Given the description of an element on the screen output the (x, y) to click on. 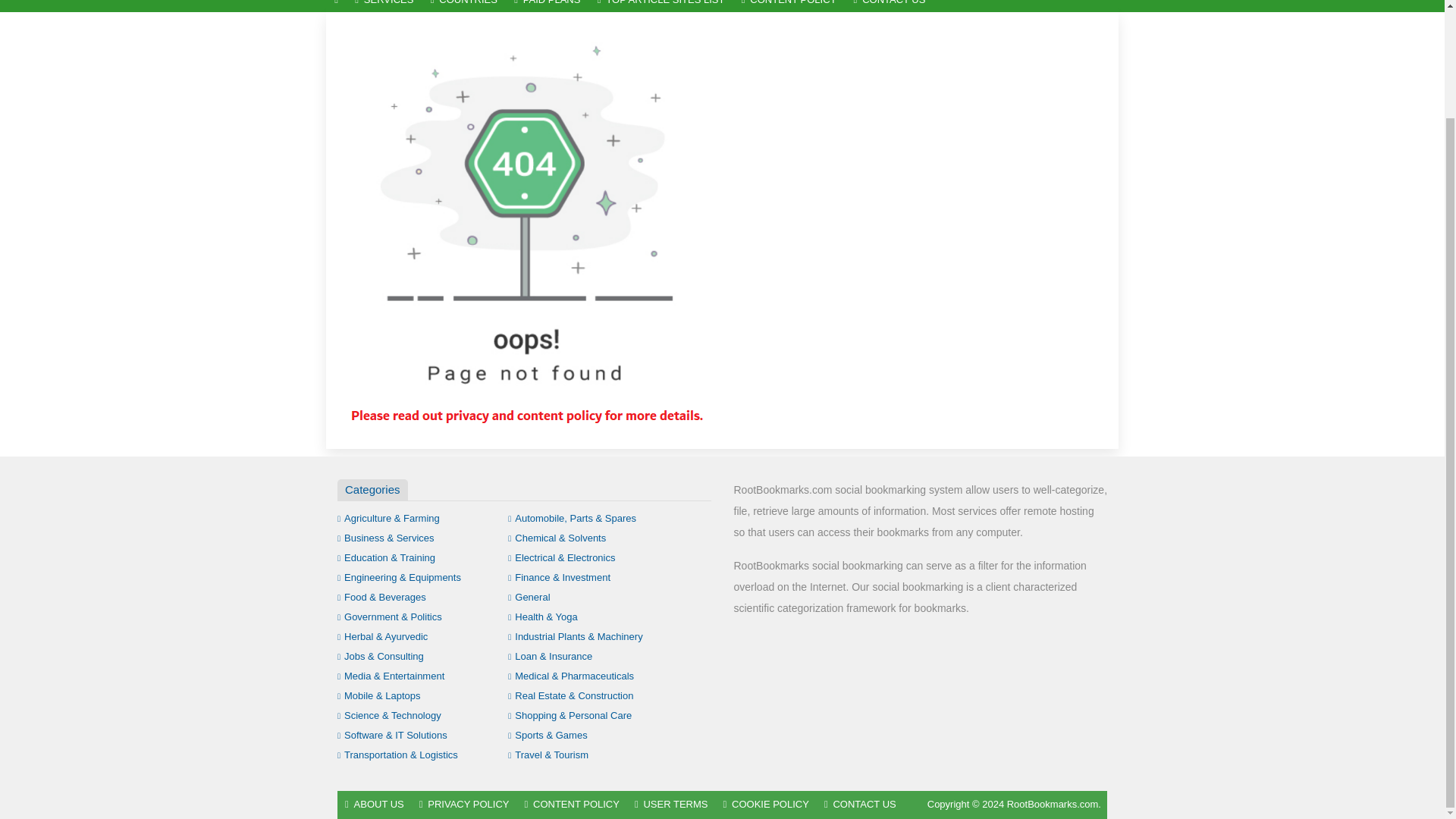
CONTENT POLICY (789, 6)
COUNTRIES (463, 6)
PAID PLANS (547, 6)
TOP ARTICLE SITES LIST (661, 6)
CONTACT US (888, 6)
General (529, 596)
SERVICES (384, 6)
HOME (336, 6)
